Given the description of an element on the screen output the (x, y) to click on. 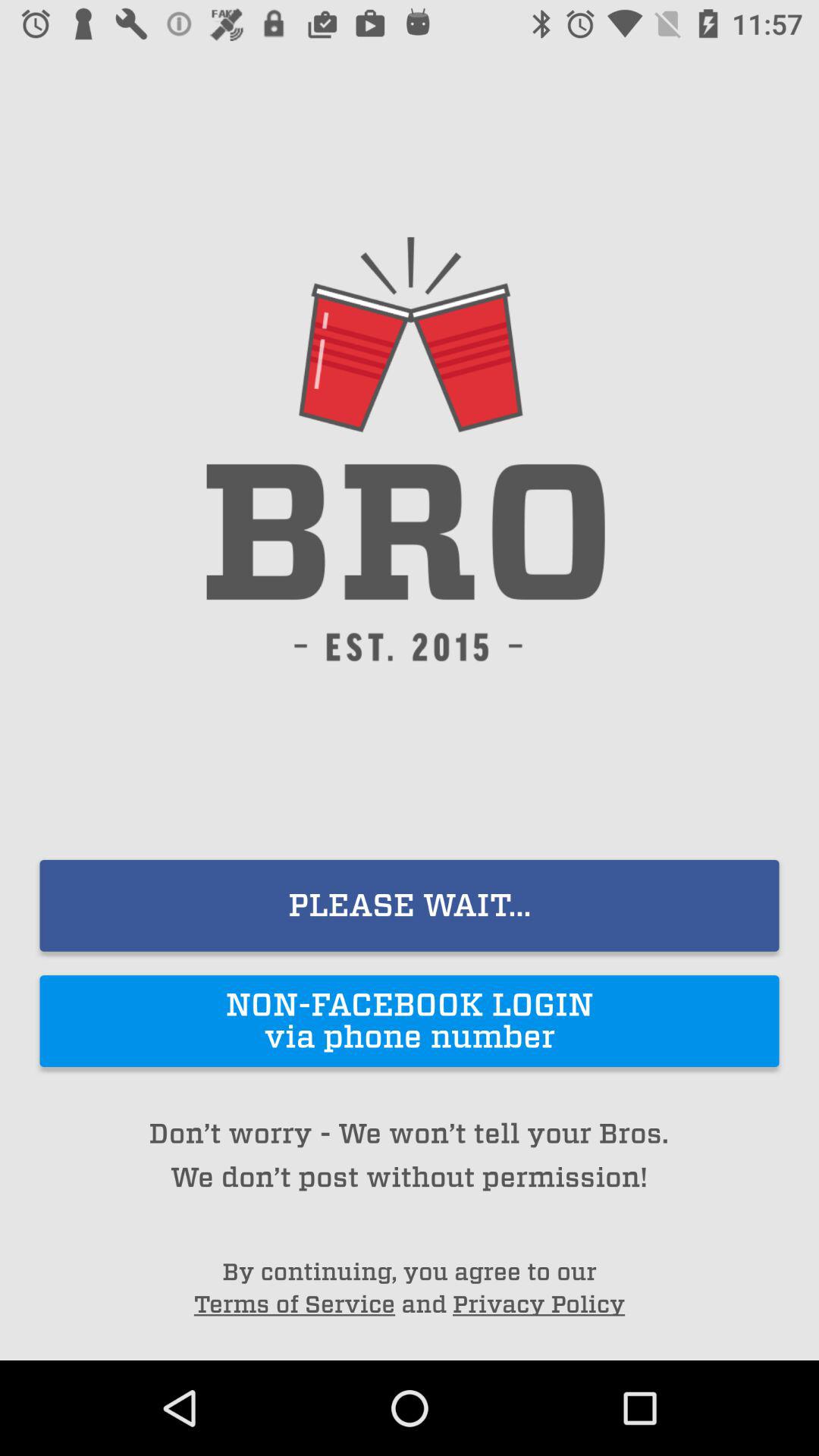
tap the item to the left of  and  item (294, 1304)
